Given the description of an element on the screen output the (x, y) to click on. 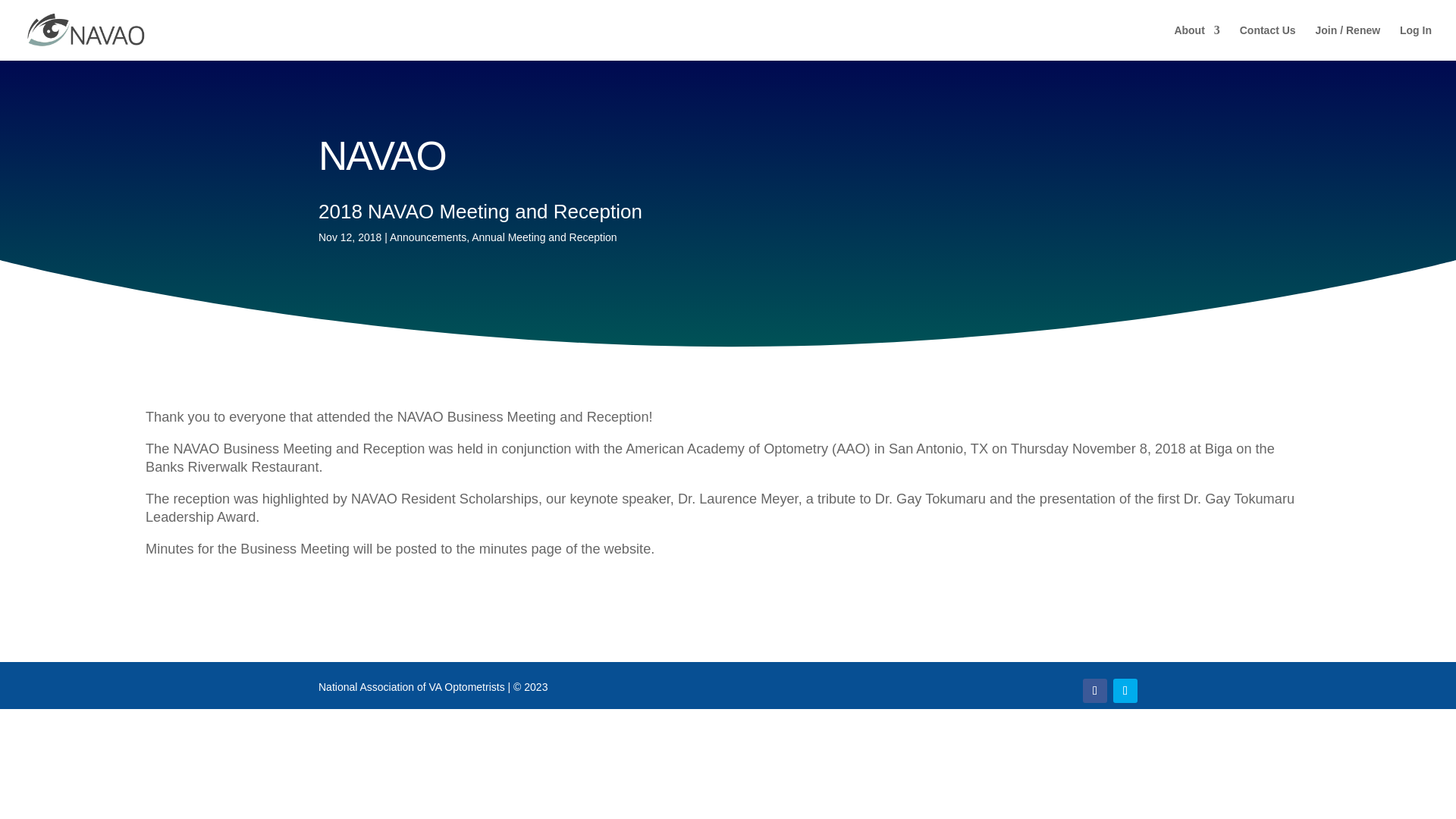
About (1196, 42)
Contact Us (1267, 42)
Log In (1415, 42)
Follow on Twitter (1125, 690)
Follow on Facebook (1094, 690)
Annual Meeting and Reception (543, 236)
Announcements (427, 236)
